Given the description of an element on the screen output the (x, y) to click on. 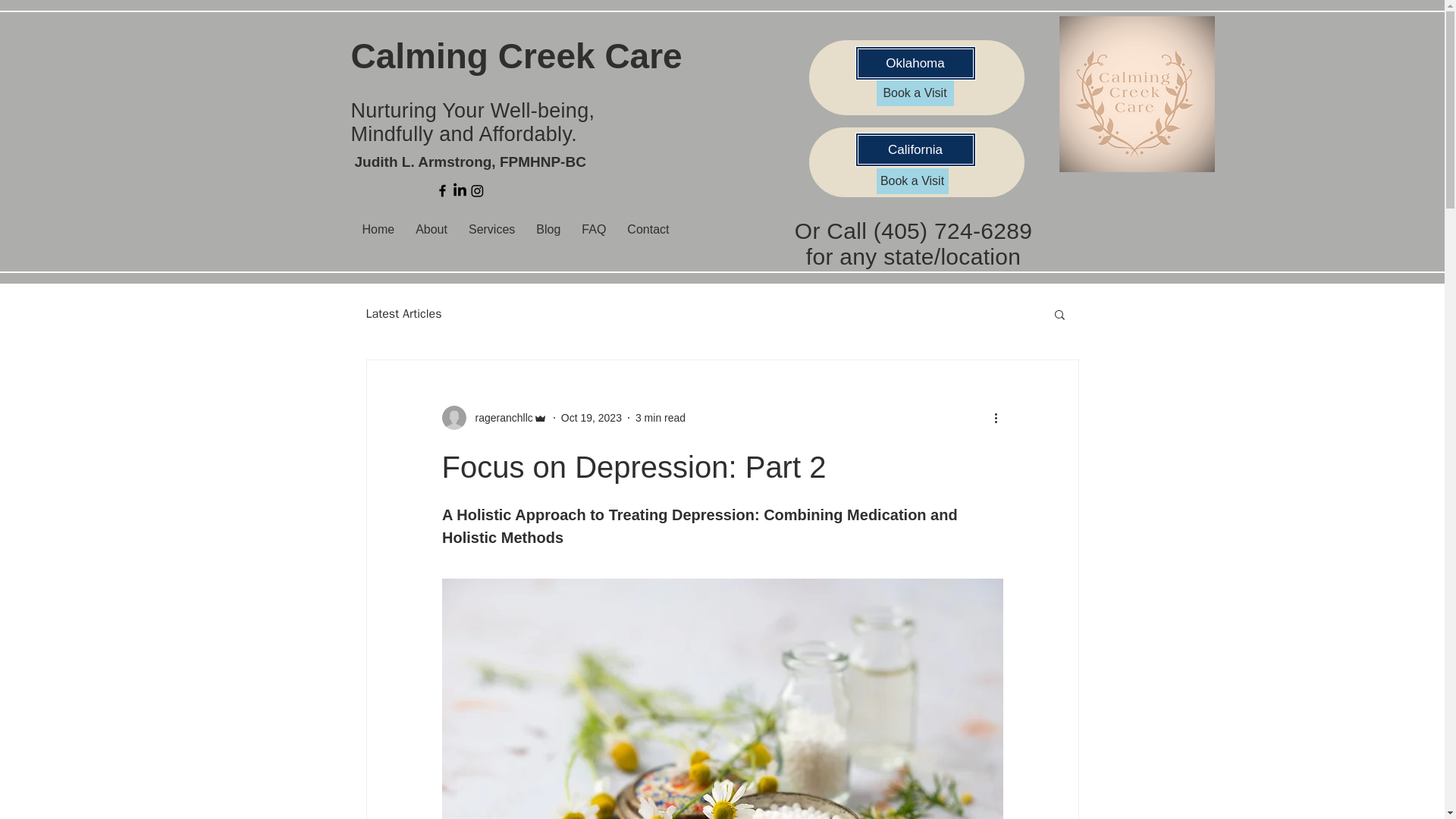
Oct 19, 2023 (590, 417)
FAQ (592, 229)
Heart Logo color transparent background. (1134, 92)
Home (377, 229)
About (430, 229)
Latest Articles (403, 314)
Book a Visit (914, 93)
Contact (648, 229)
Blog (547, 229)
Book a Visit (912, 181)
3 min read (659, 417)
Oklahoma (915, 62)
Services (491, 229)
California (915, 149)
rageranchllc (498, 417)
